Given the description of an element on the screen output the (x, y) to click on. 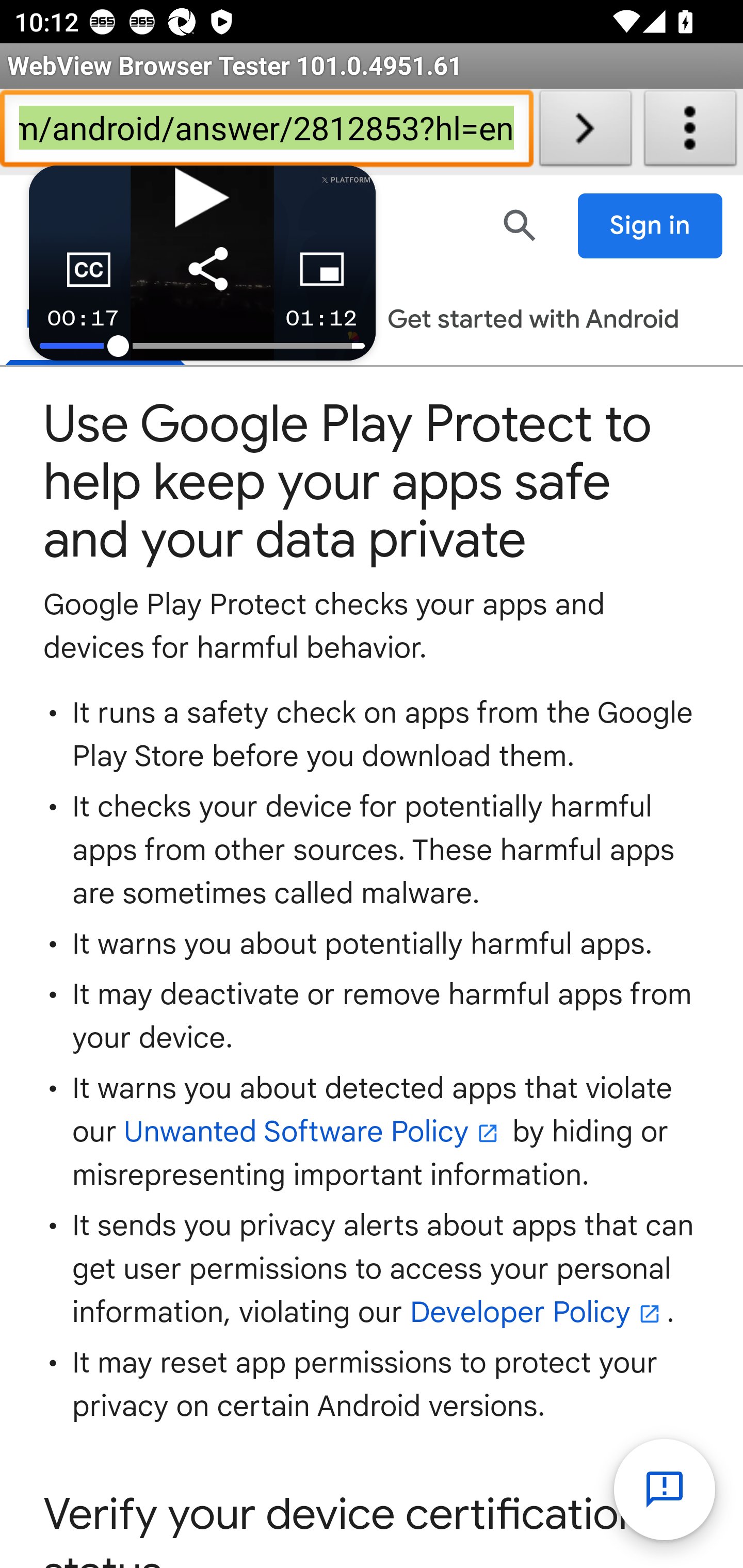
Load URL (585, 132)
About WebView (690, 132)
Search Help Center (519, 225)
Sign in (650, 226)
Get started with Android (533, 320)
Unwanted Software Policy (313, 1132)
Developer Policy (537, 1313)
